Given the description of an element on the screen output the (x, y) to click on. 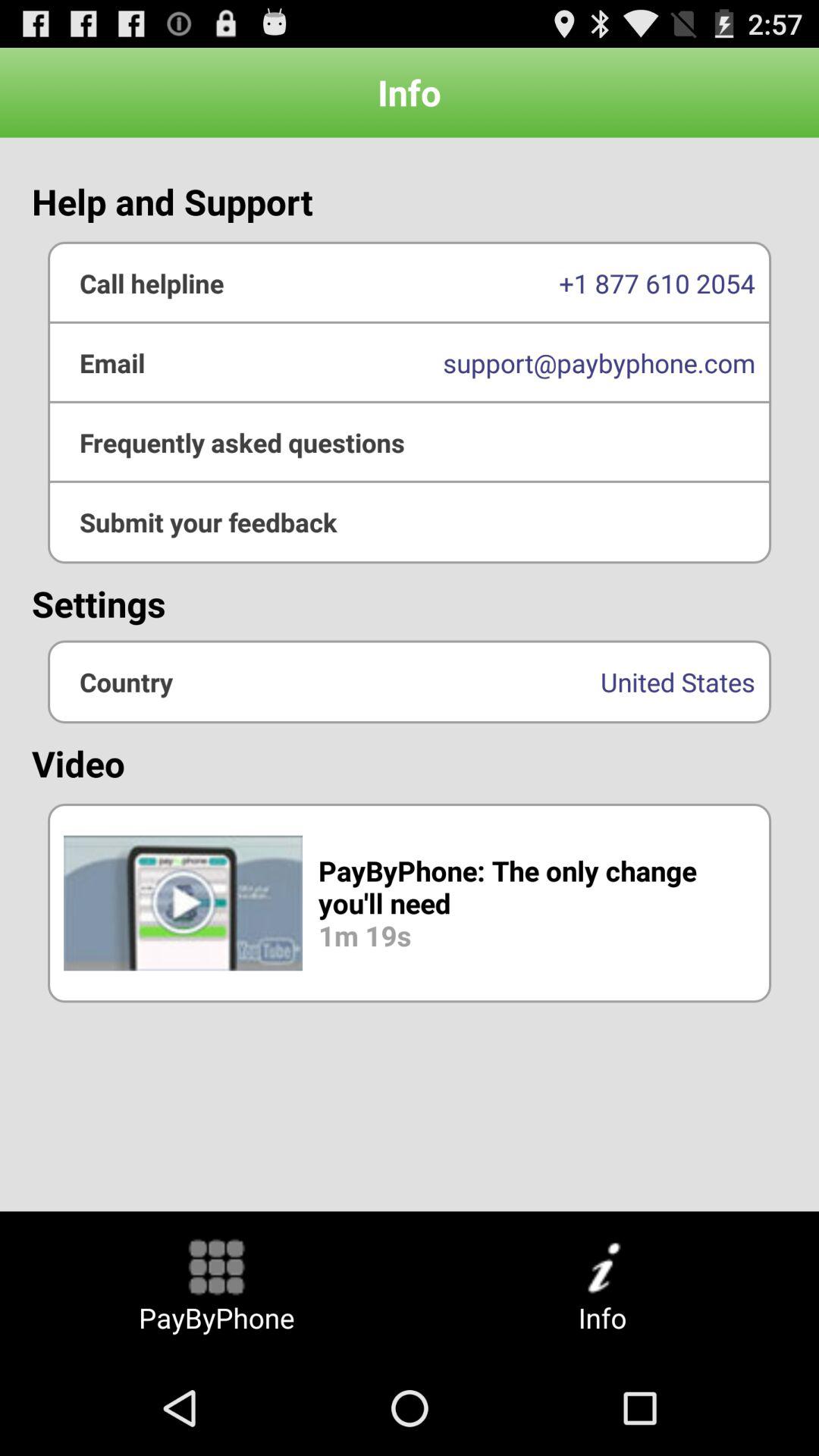
submits feedback (409, 521)
